Given the description of an element on the screen output the (x, y) to click on. 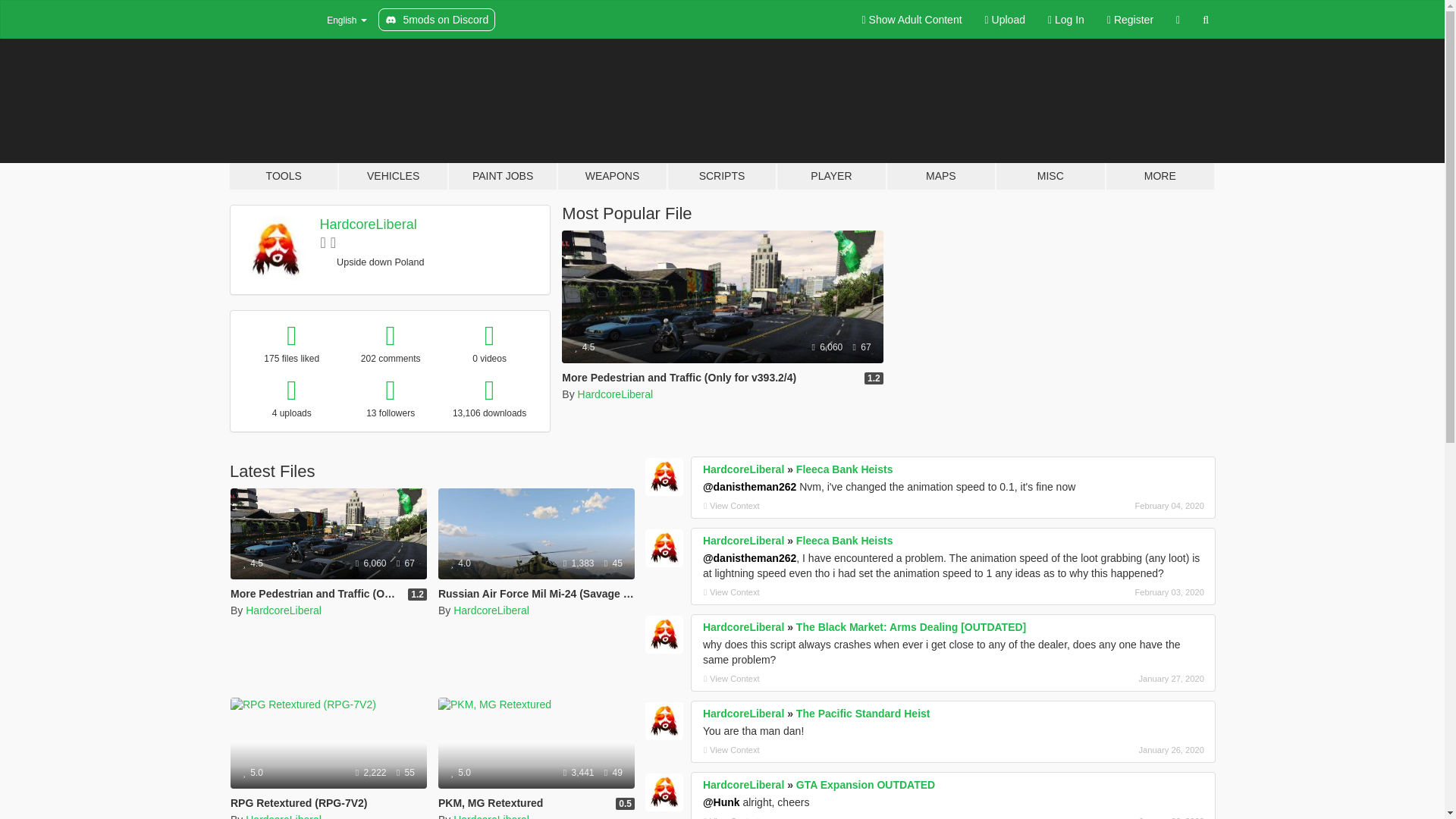
6,060 Downloads (371, 562)
HardcoreLiberal (615, 394)
1.2 (873, 378)
67 Likes (405, 562)
4.5 star rating (253, 562)
1.2 (416, 594)
Indonesia (325, 262)
  English (337, 19)
Light mode (912, 19)
Upload (1005, 19)
Log In (1066, 19)
6,060 Downloads (827, 347)
Register (1130, 19)
4.5 star rating (583, 347)
67 Likes (861, 347)
